Given the description of an element on the screen output the (x, y) to click on. 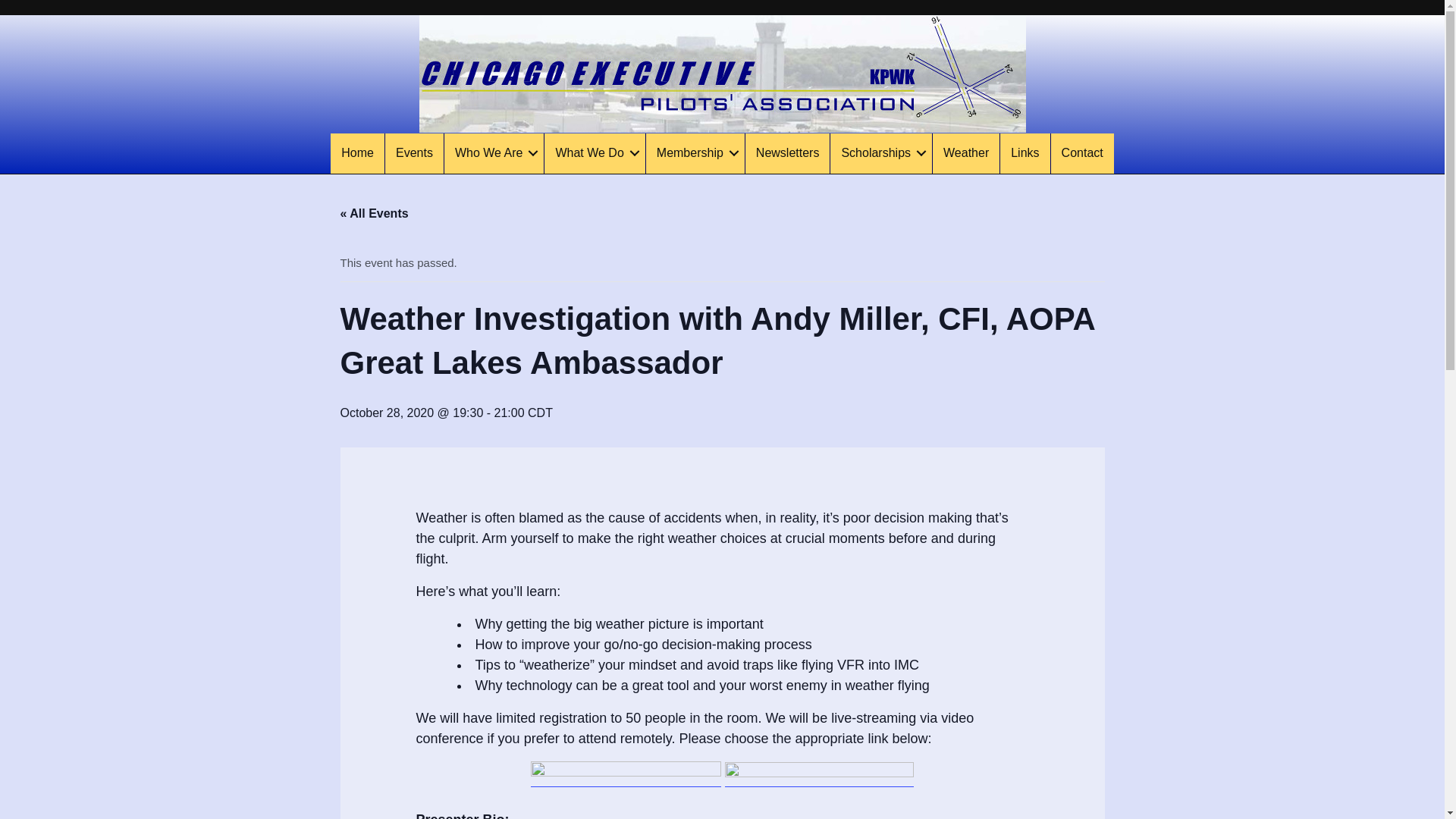
Links (1024, 153)
Membership (695, 153)
Contact (1082, 153)
Home (357, 153)
What We Do (594, 153)
Newsletters (787, 153)
Weather (965, 153)
Who We Are (494, 153)
Scholarships (880, 153)
Events (414, 153)
